Given the description of an element on the screen output the (x, y) to click on. 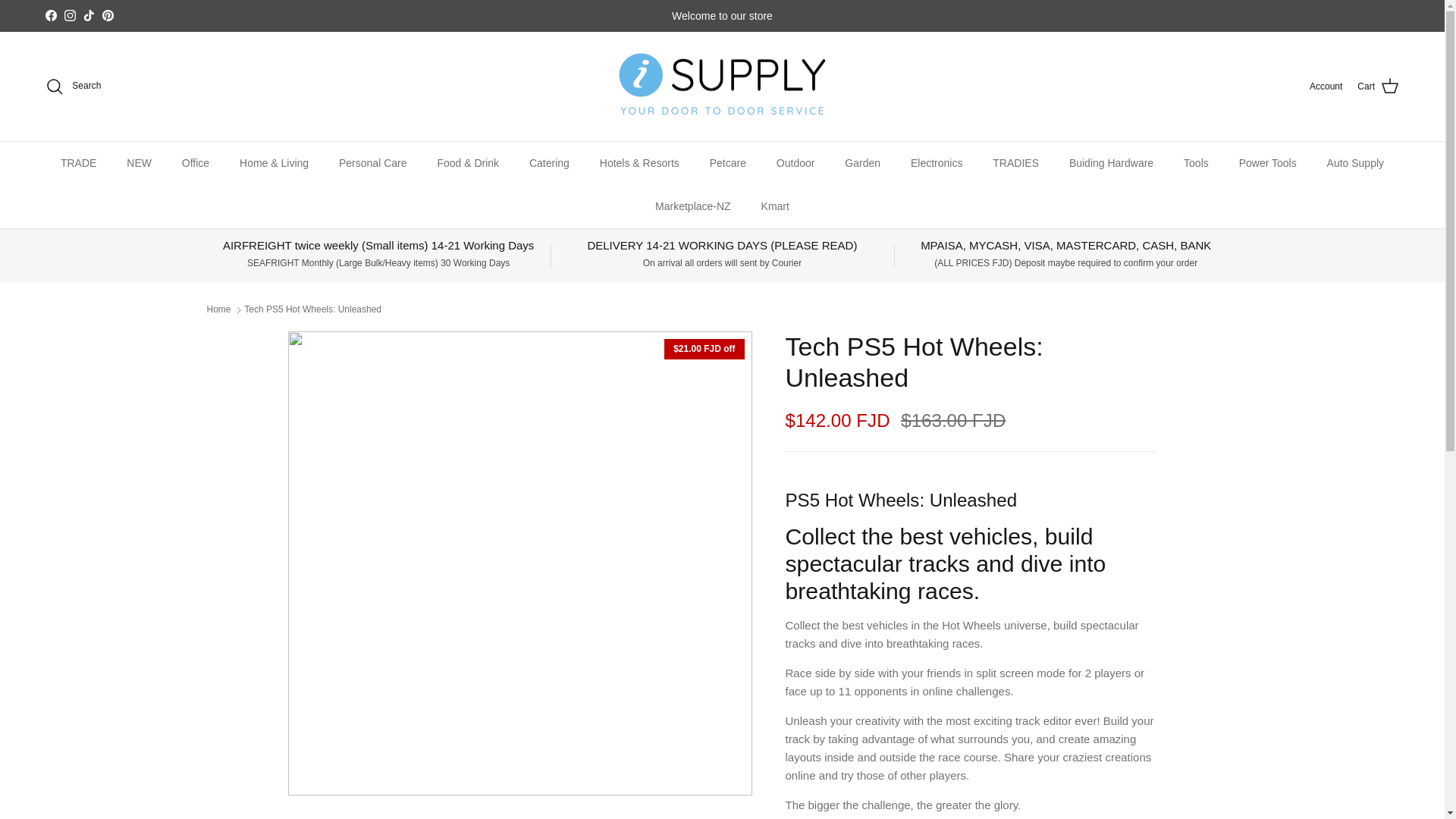
i Supply Solutions NZ   (721, 86)
TRADE (78, 163)
TikTok (88, 15)
i Supply Solutions NZ   on Pinterest (107, 15)
Facebook (50, 15)
Cart (1377, 86)
Search (72, 85)
i Supply Solutions NZ   on Facebook (50, 15)
Account (1325, 86)
i Supply Solutions NZ   on Instagram (69, 15)
